Given the description of an element on the screen output the (x, y) to click on. 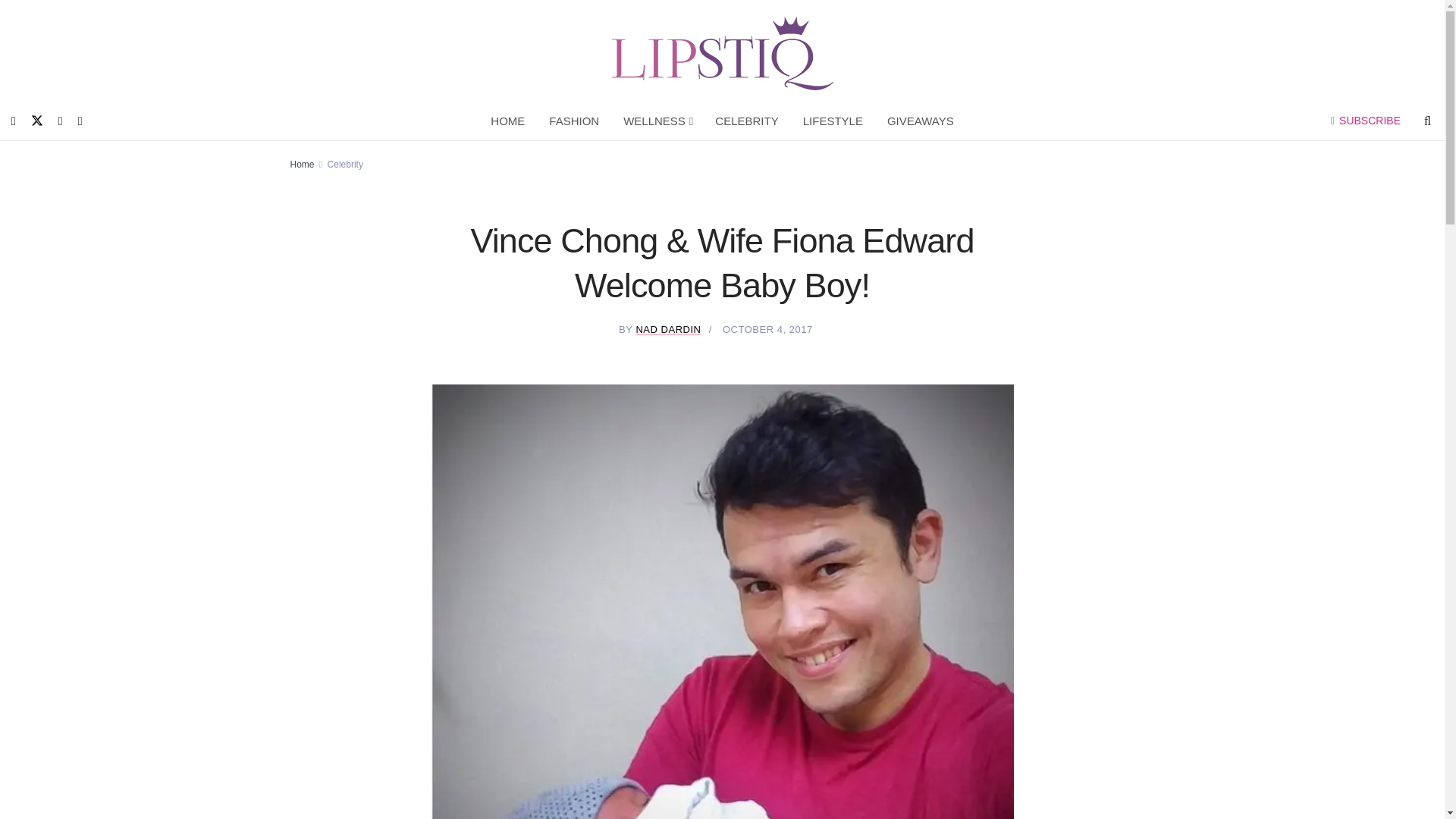
LIFESTYLE (832, 121)
HOME (508, 121)
OCTOBER 4, 2017 (767, 328)
Home (301, 163)
Celebrity (344, 163)
GIVEAWAYS (920, 121)
WELLNESS (657, 121)
SUBSCRIBE (1365, 120)
CELEBRITY (746, 121)
FASHION (574, 121)
